Given the description of an element on the screen output the (x, y) to click on. 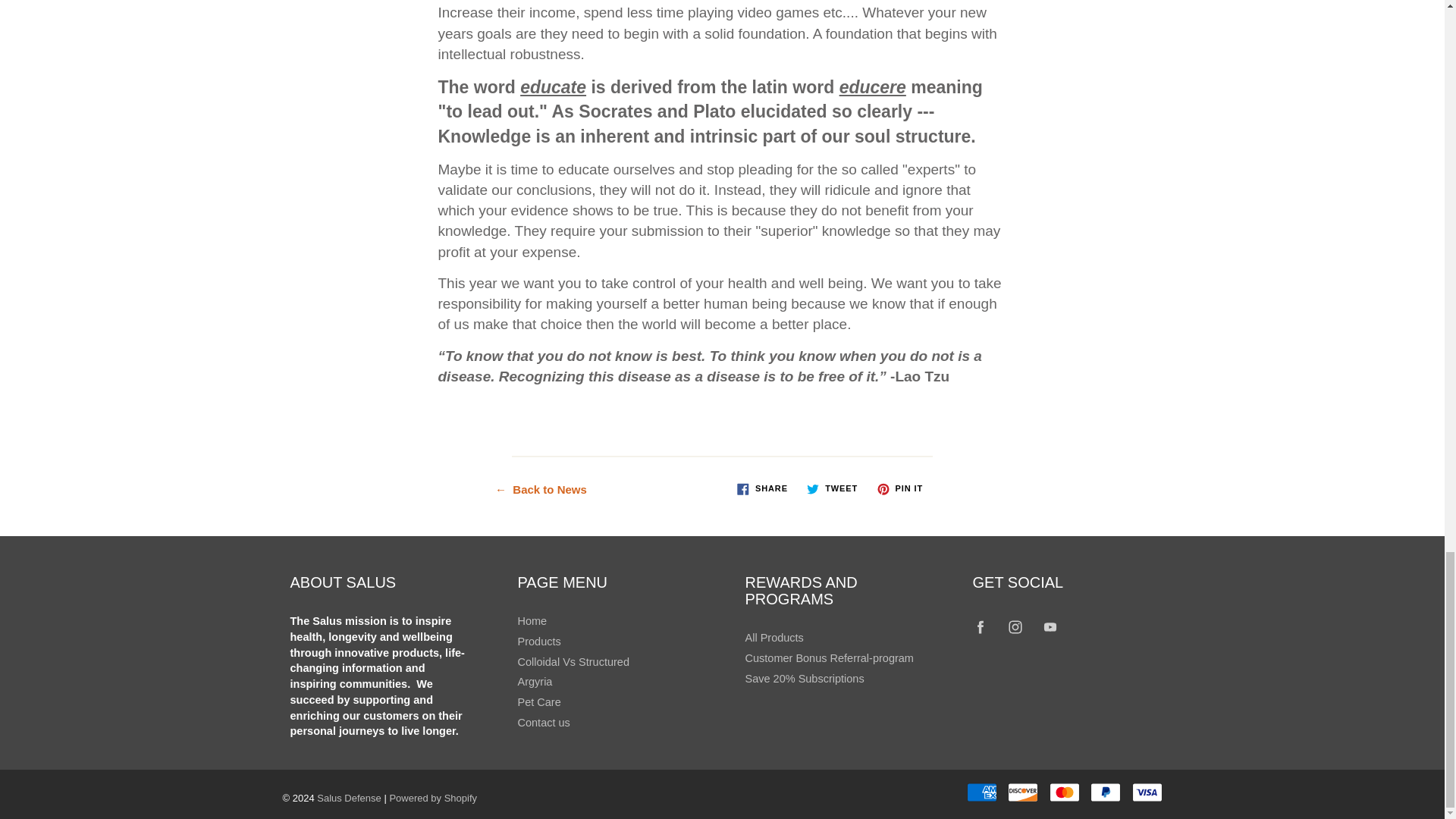
PayPal (1105, 792)
Facebook (981, 626)
Pin on Pinterest (899, 488)
Tweet on Twitter (831, 488)
Share on Facebook (761, 488)
Instagram (1016, 626)
Mastercard (1064, 792)
YouTube (1050, 626)
American Express (981, 792)
Visa (1146, 792)
